Given the description of an element on the screen output the (x, y) to click on. 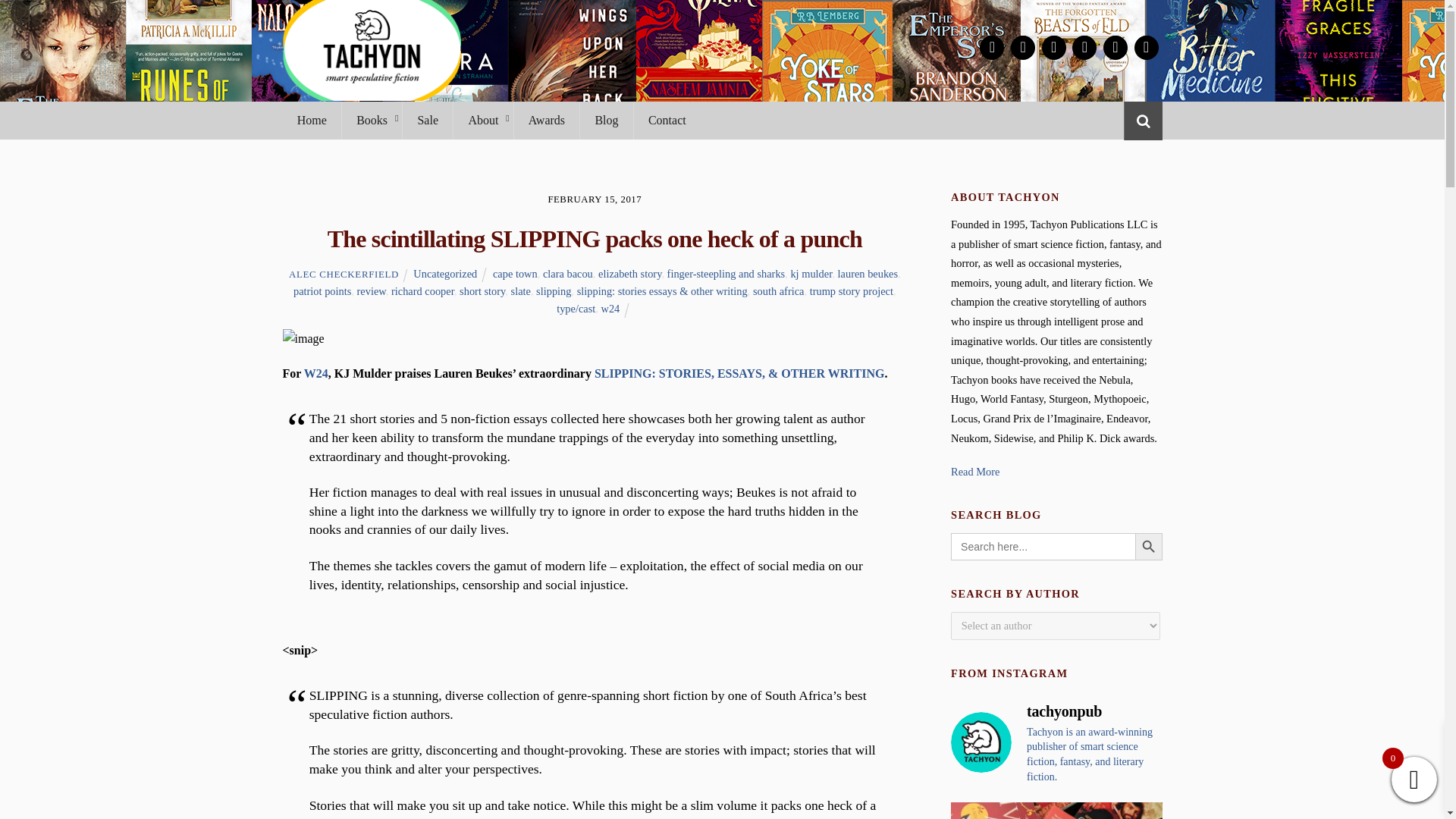
cape town (515, 273)
The scintillating SLIPPING packs one heck of a punch (594, 238)
Contact (666, 120)
Uncategorized (445, 273)
tachyon-logo (371, 50)
clara bacou (567, 273)
Tachyon Publications (371, 93)
Blog (606, 120)
elizabeth story (629, 273)
ALEC CHECKERFIELD (343, 274)
Home (311, 120)
Sale (426, 120)
Books (370, 120)
About (482, 120)
Awards (546, 120)
